Given the description of an element on the screen output the (x, y) to click on. 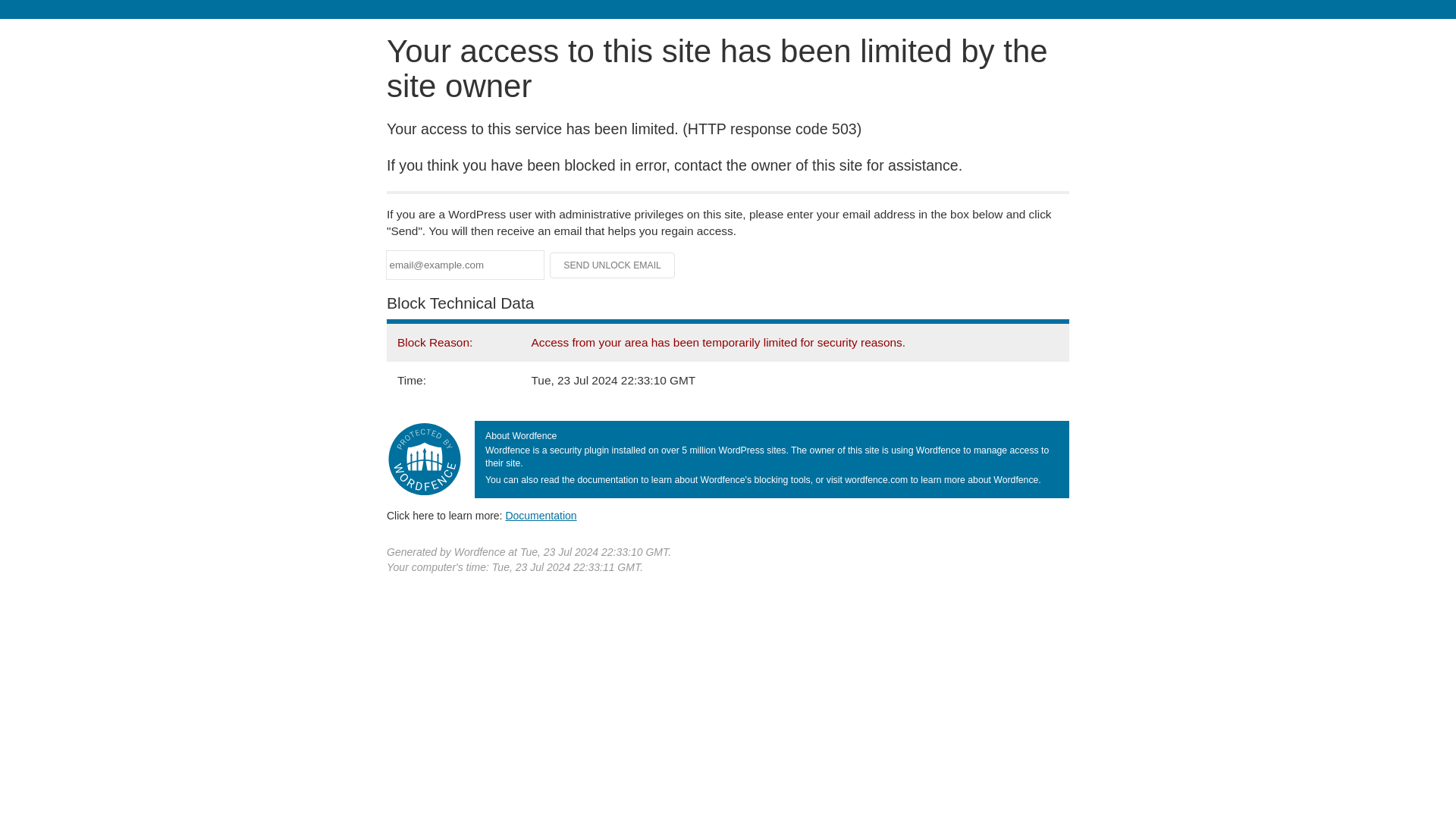
Send Unlock Email (612, 265)
Documentation (540, 515)
Send Unlock Email (612, 265)
